Given the description of an element on the screen output the (x, y) to click on. 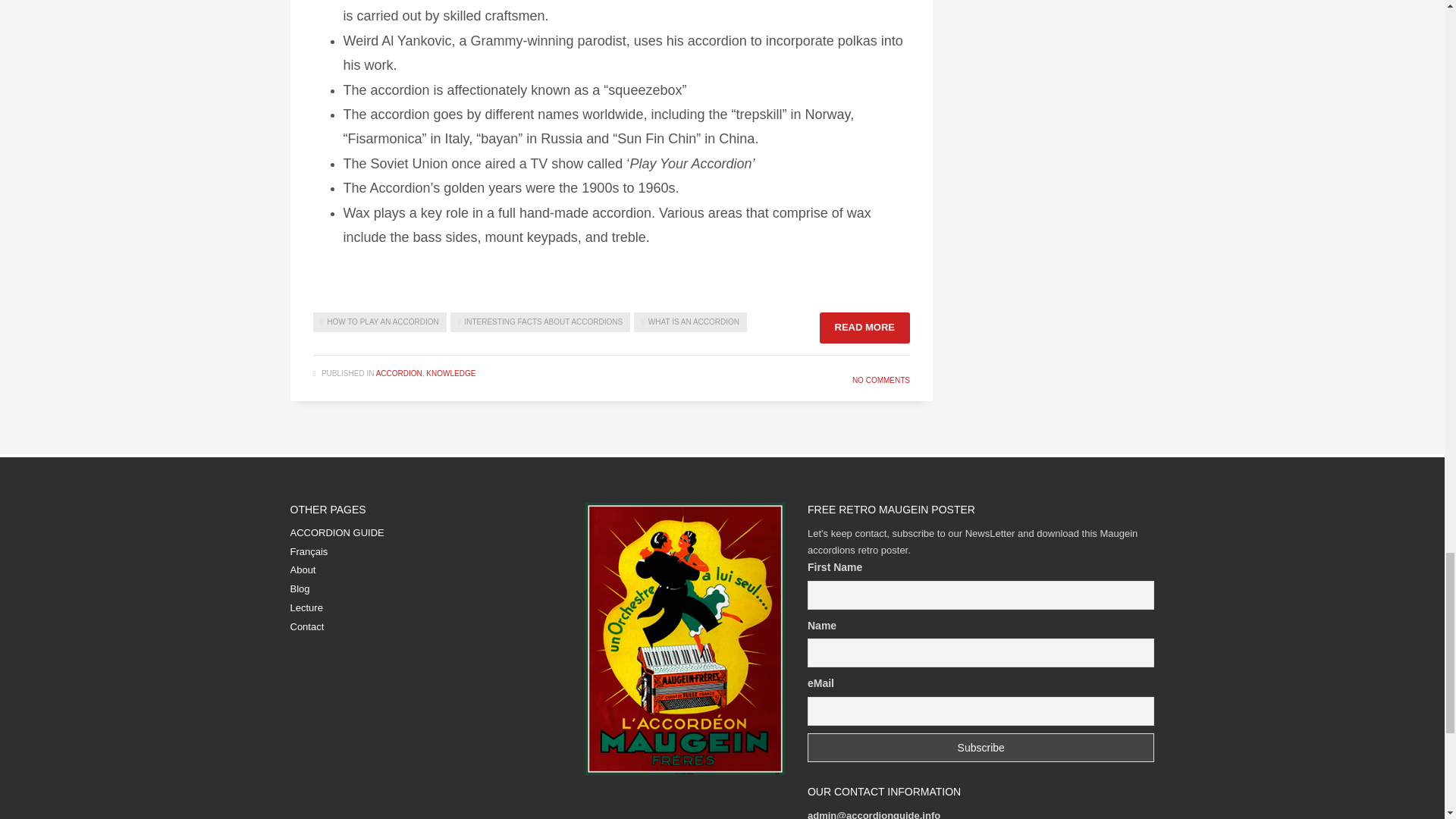
READ MORE (864, 327)
NO COMMENTS (880, 379)
KNOWLEDGE (451, 373)
ACCORDION (398, 373)
WHAT IS AN ACCORDION (689, 322)
INTERESTING FACTS ABOUT ACCORDIONS (539, 322)
HOW TO PLAY AN ACCORDION (379, 322)
Subscribe (981, 747)
